Given the description of an element on the screen output the (x, y) to click on. 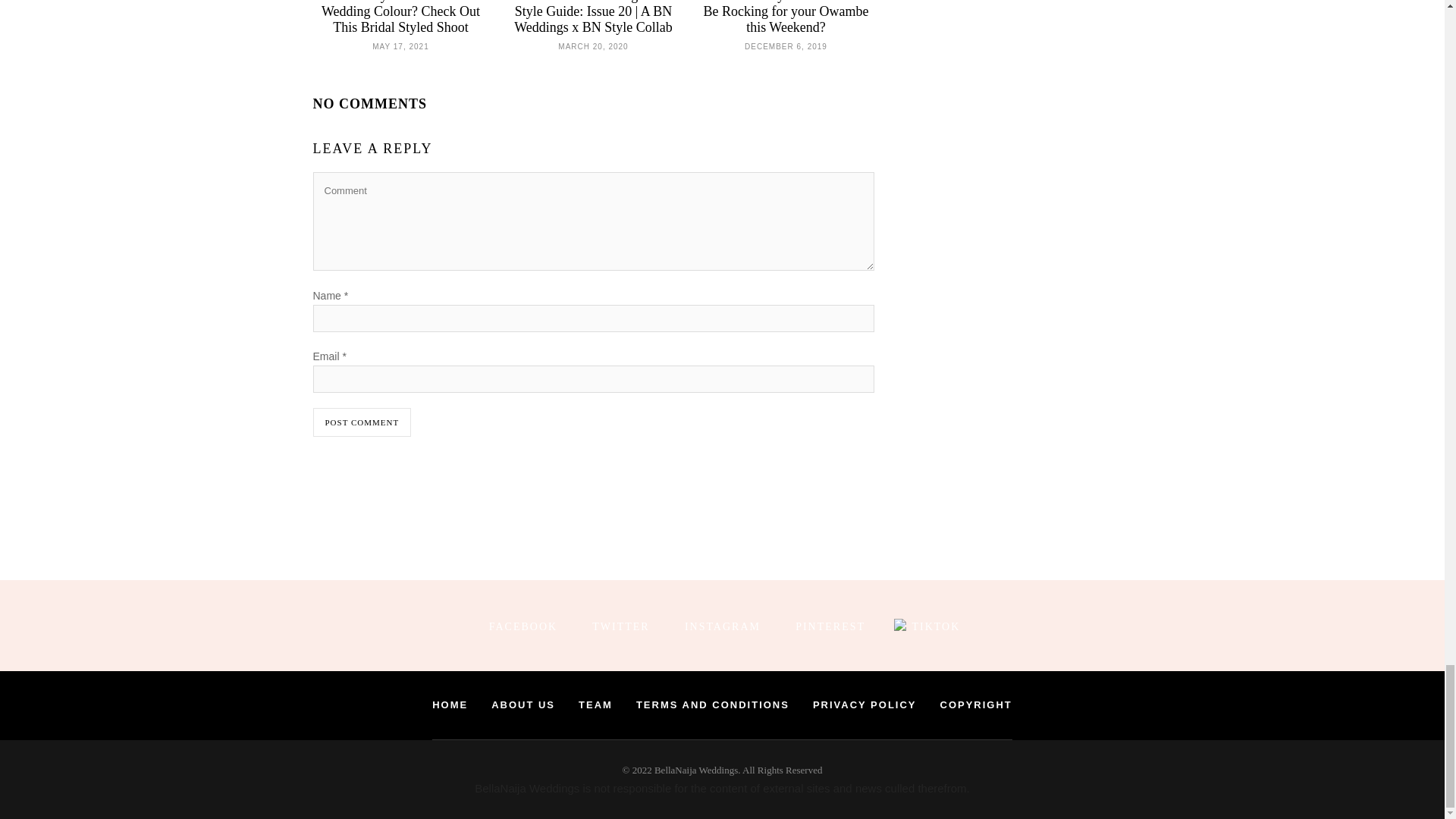
MARCH 20, 2020 (592, 44)
MAY 17, 2021 (400, 44)
Post Comment (361, 421)
